Given the description of an element on the screen output the (x, y) to click on. 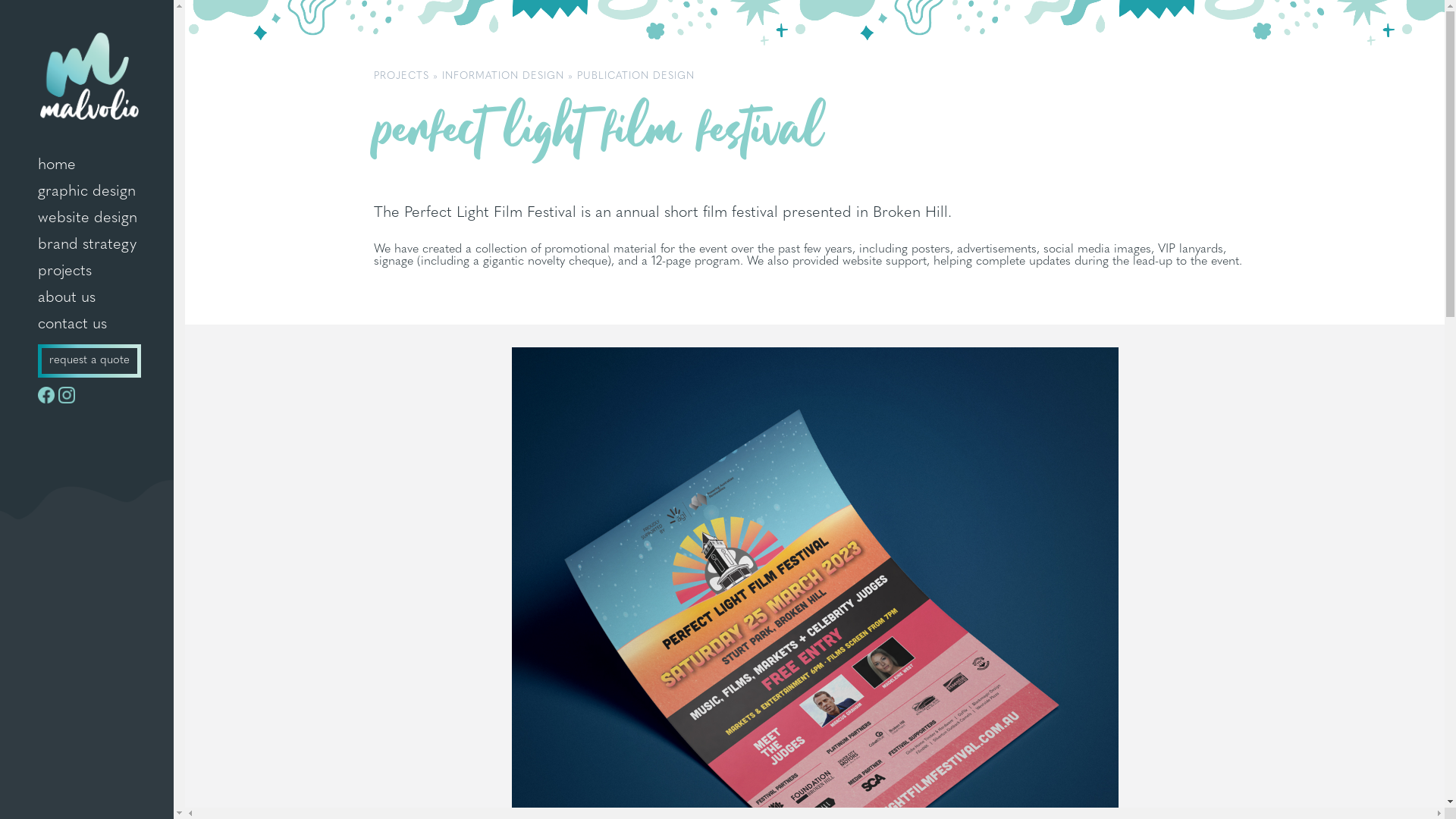
PUBLICATION DESIGN Element type: text (635, 76)
INFORMATION DESIGN Element type: text (503, 76)
about us Element type: text (86, 298)
website design Element type: text (86, 218)
projects Element type: text (86, 271)
home Element type: text (86, 165)
graphic design Element type: text (86, 191)
contact us Element type: text (86, 324)
brand strategy Element type: text (86, 245)
request a quote Element type: text (89, 360)
